Given the description of an element on the screen output the (x, y) to click on. 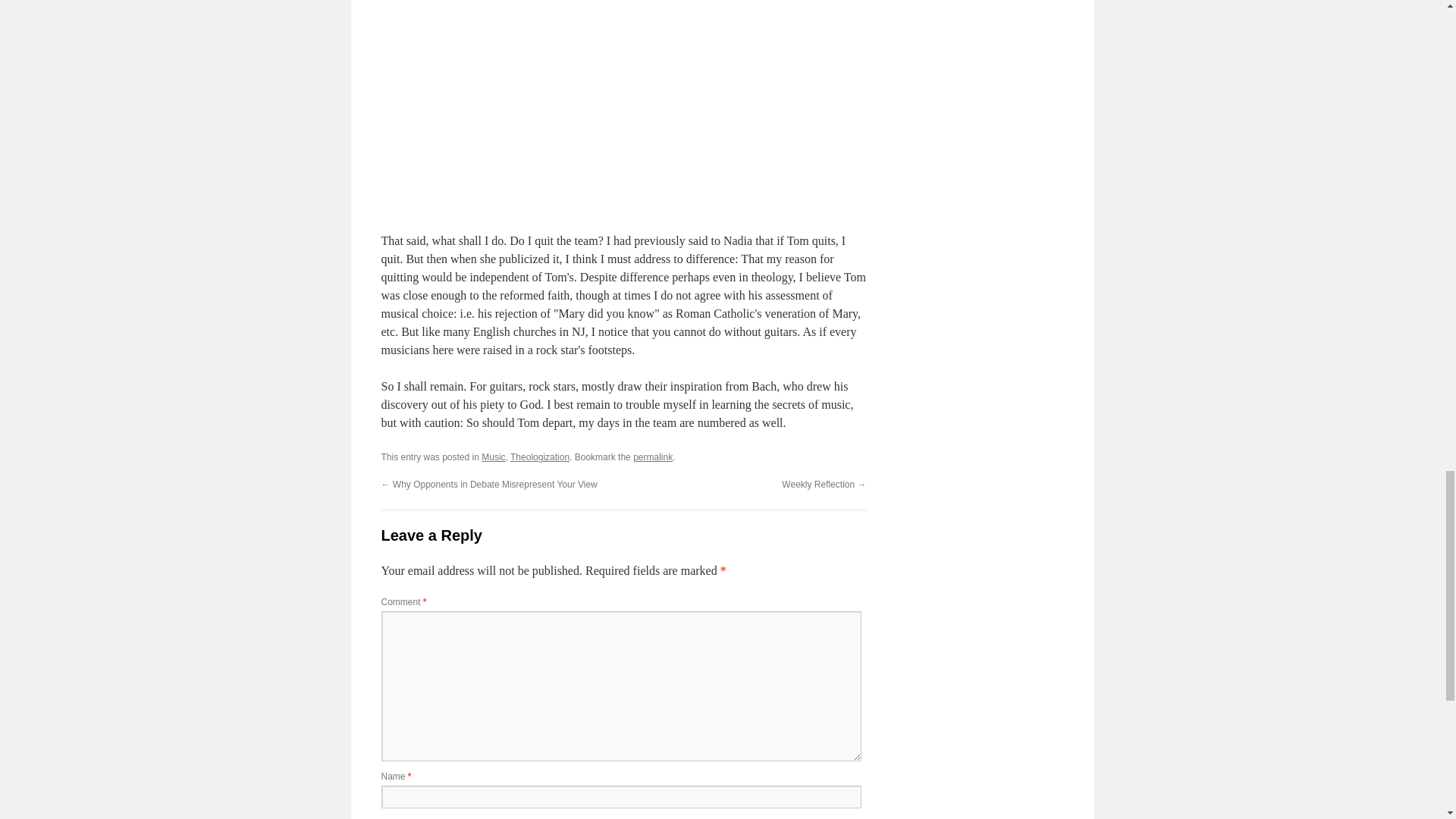
Permalink to On Church Worship - Music (652, 457)
Theologization (540, 457)
Music (493, 457)
permalink (652, 457)
